Given the description of an element on the screen output the (x, y) to click on. 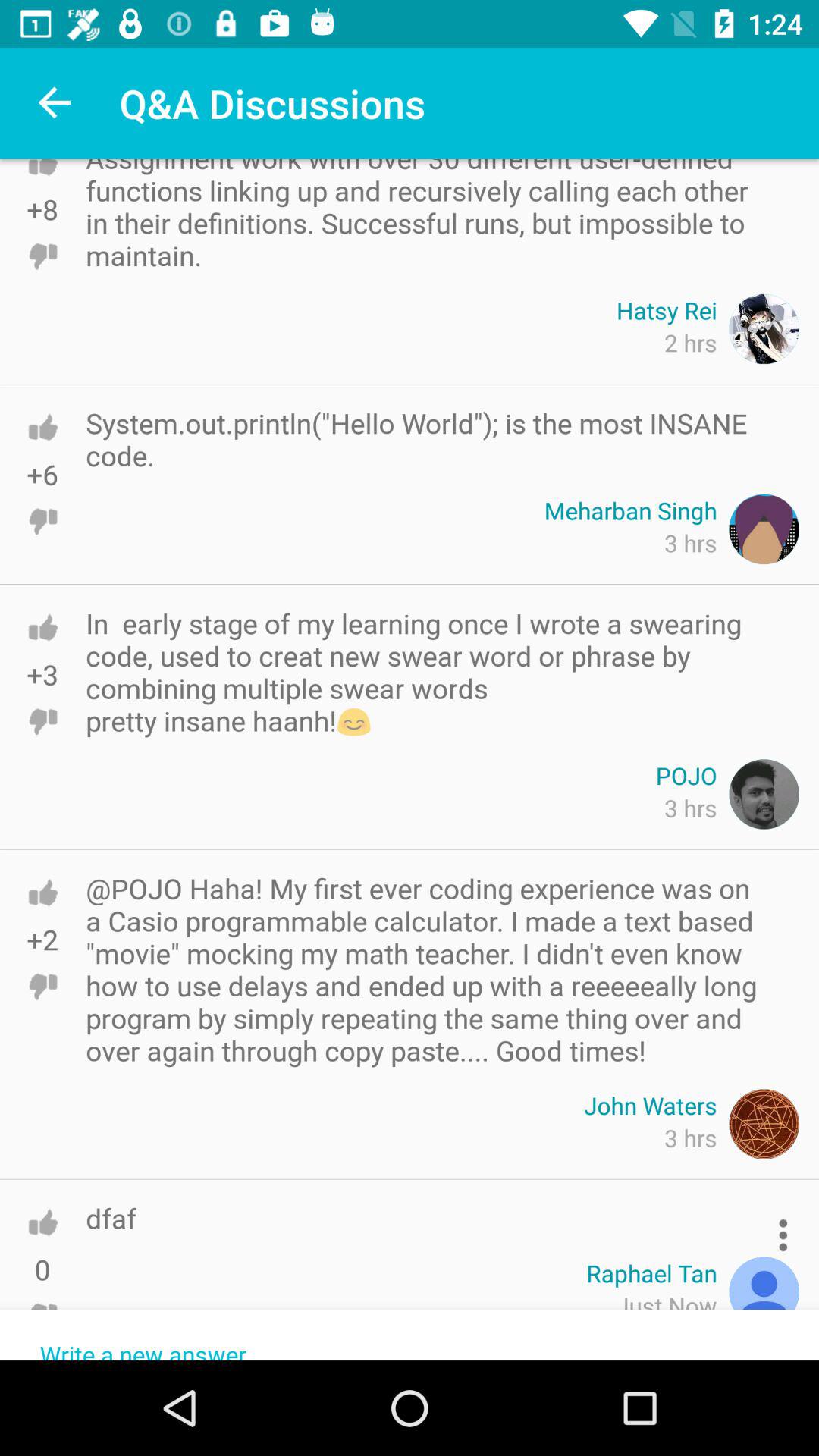
go back (42, 182)
